Given the description of an element on the screen output the (x, y) to click on. 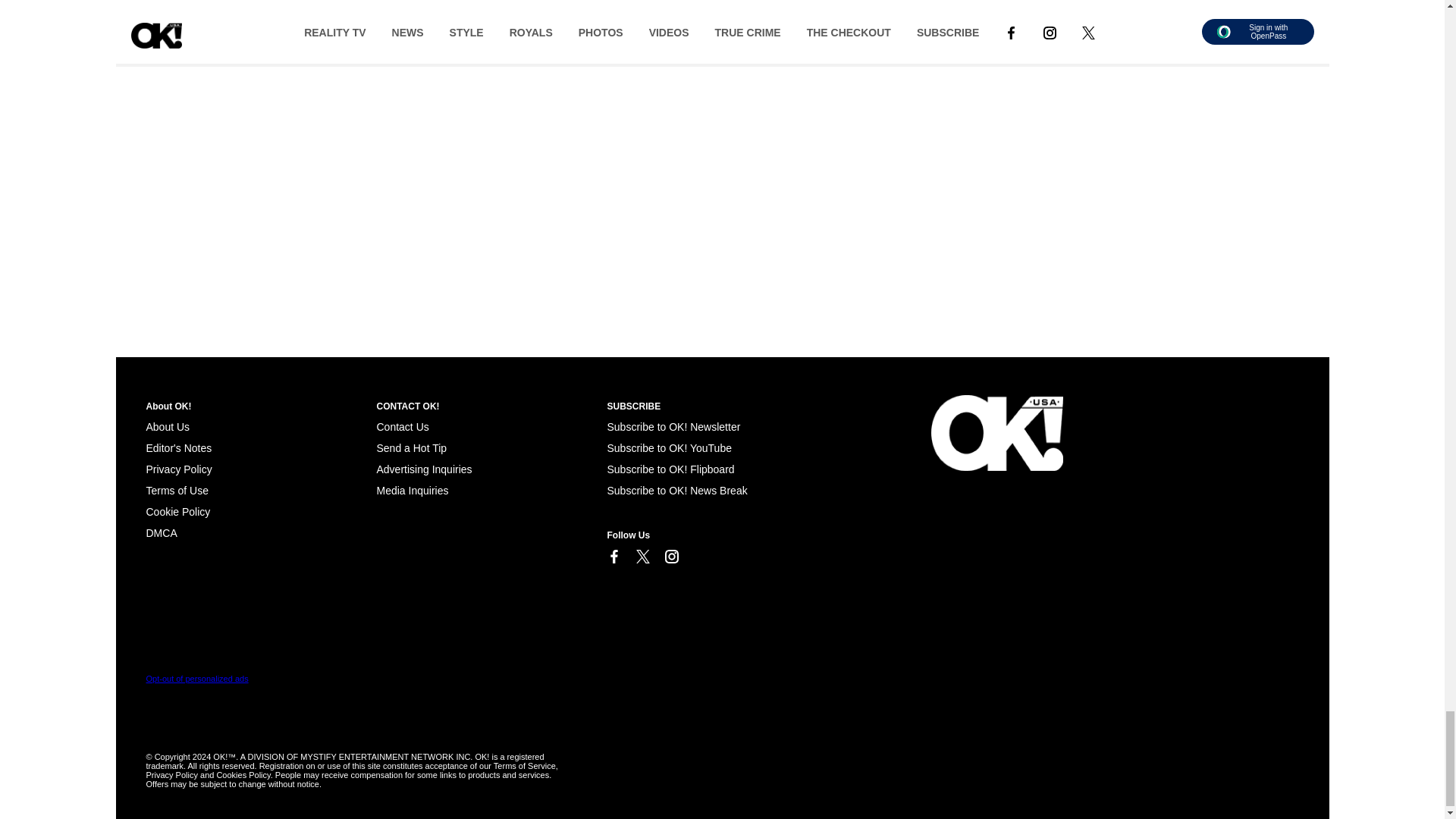
Link to Facebook (613, 556)
Link to X (641, 556)
About Us (167, 426)
Cookie Policy (177, 511)
Terms of Use (176, 490)
Editor's Notes (178, 448)
Link to Instagram (670, 556)
Cookie Policy (160, 532)
Privacy Policy (178, 469)
